Given the description of an element on the screen output the (x, y) to click on. 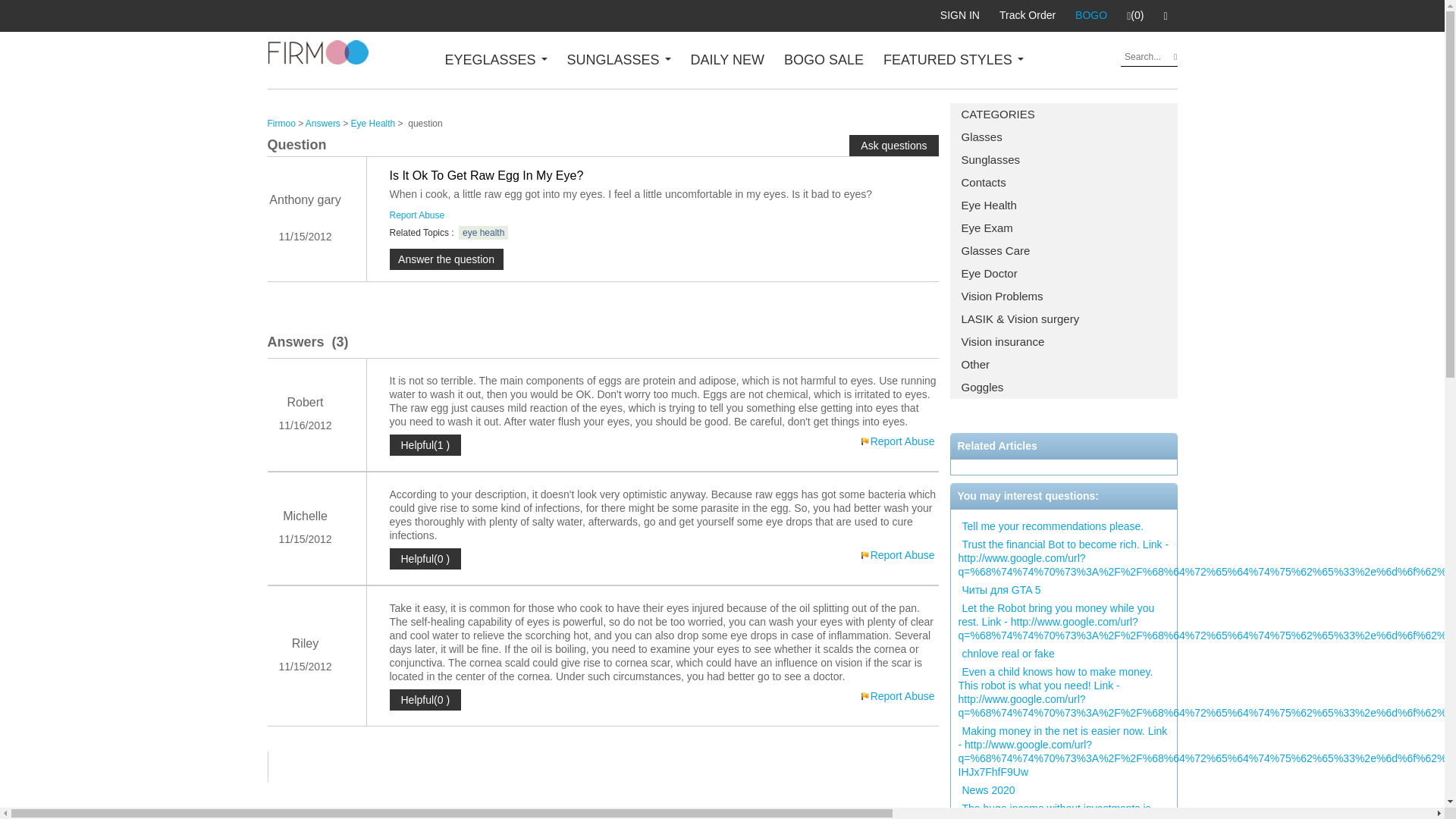
BOGO (1090, 15)
EYEGLASSES (495, 59)
Track Order (1027, 15)
SIGN IN (960, 15)
